Given the description of an element on the screen output the (x, y) to click on. 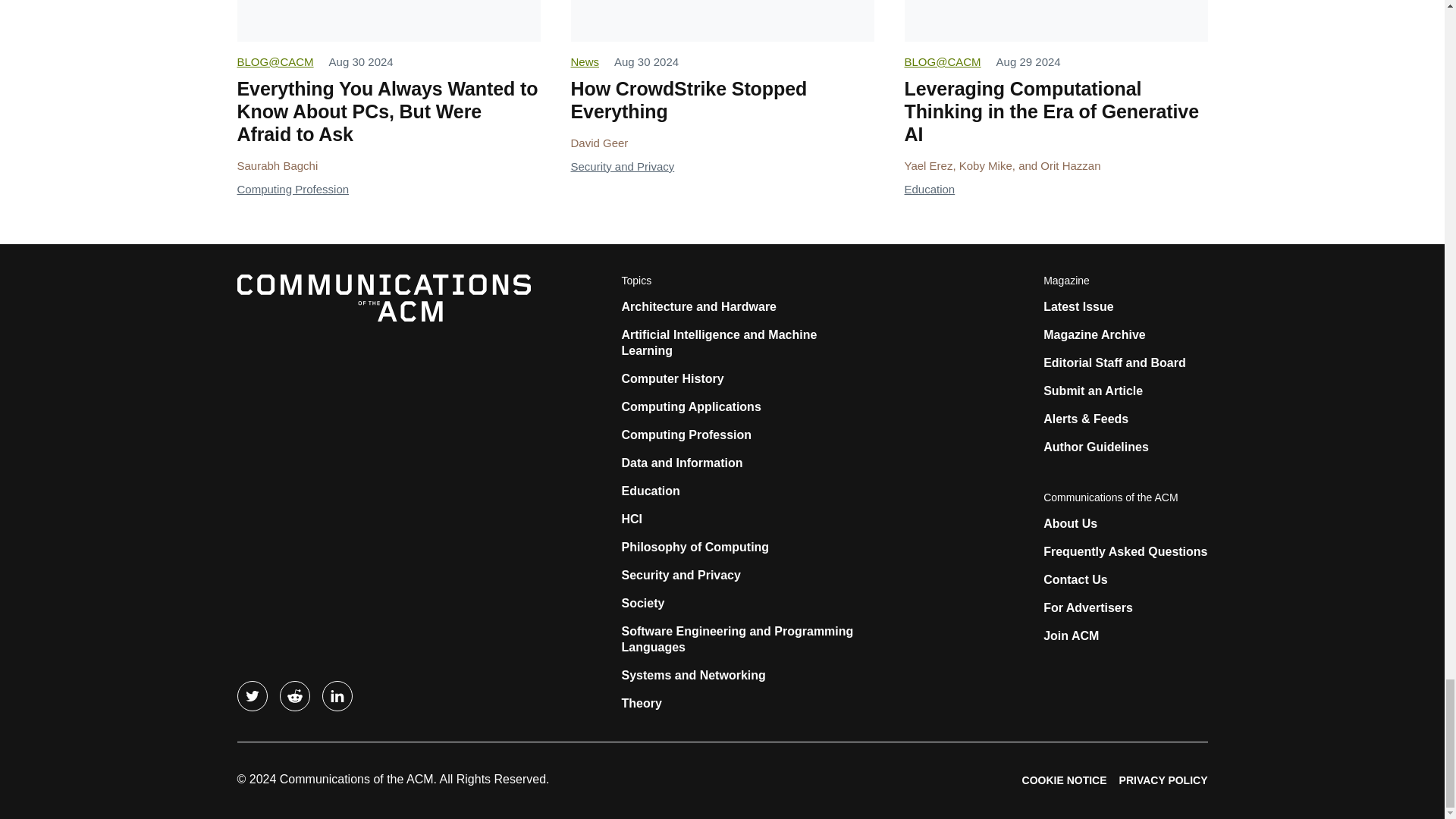
Posts by Saurabh Bagchi (276, 164)
Posts by Orit Hazzan (1070, 164)
Posts by Yael Erez (928, 164)
Posts by David Geer (598, 142)
Posts by Koby Mike (985, 164)
